Given the description of an element on the screen output the (x, y) to click on. 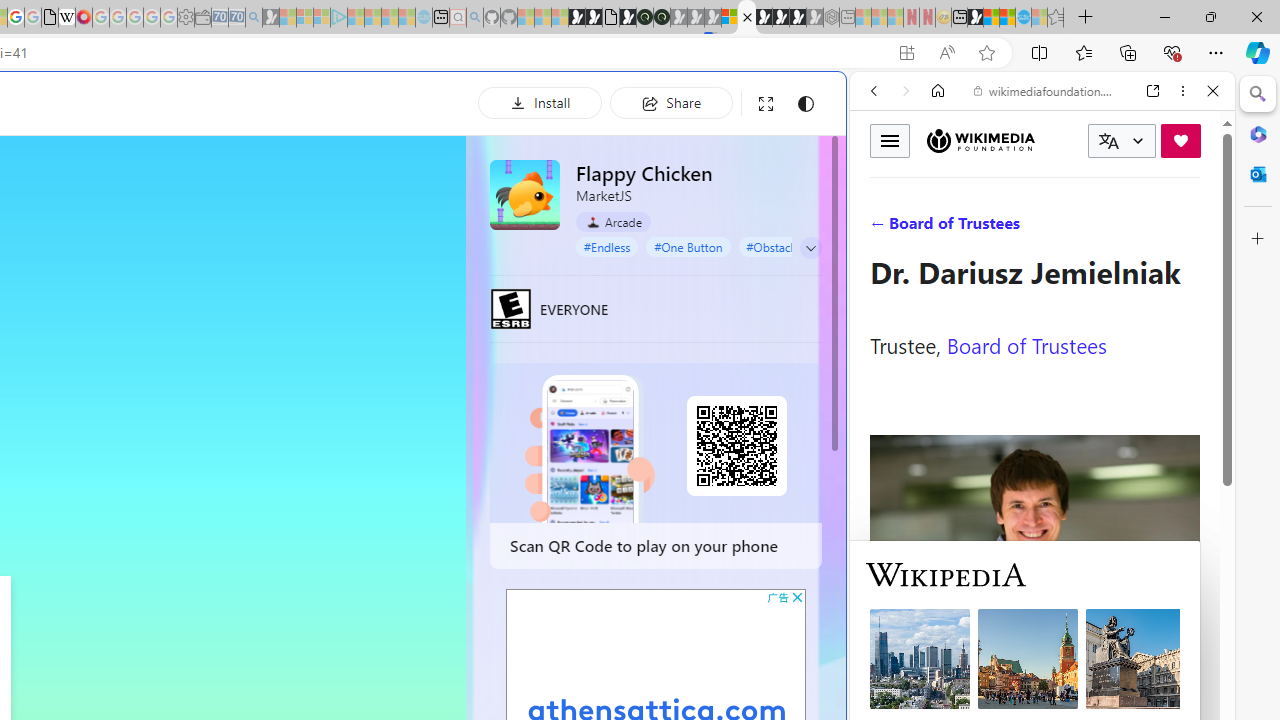
AutomationID: cbb (797, 596)
github - Search - Sleeping (474, 17)
Close split screen (844, 102)
Wikimedia Foundation (980, 141)
World - MSN (991, 17)
Search Filter, WEB (882, 228)
